Given the description of an element on the screen output the (x, y) to click on. 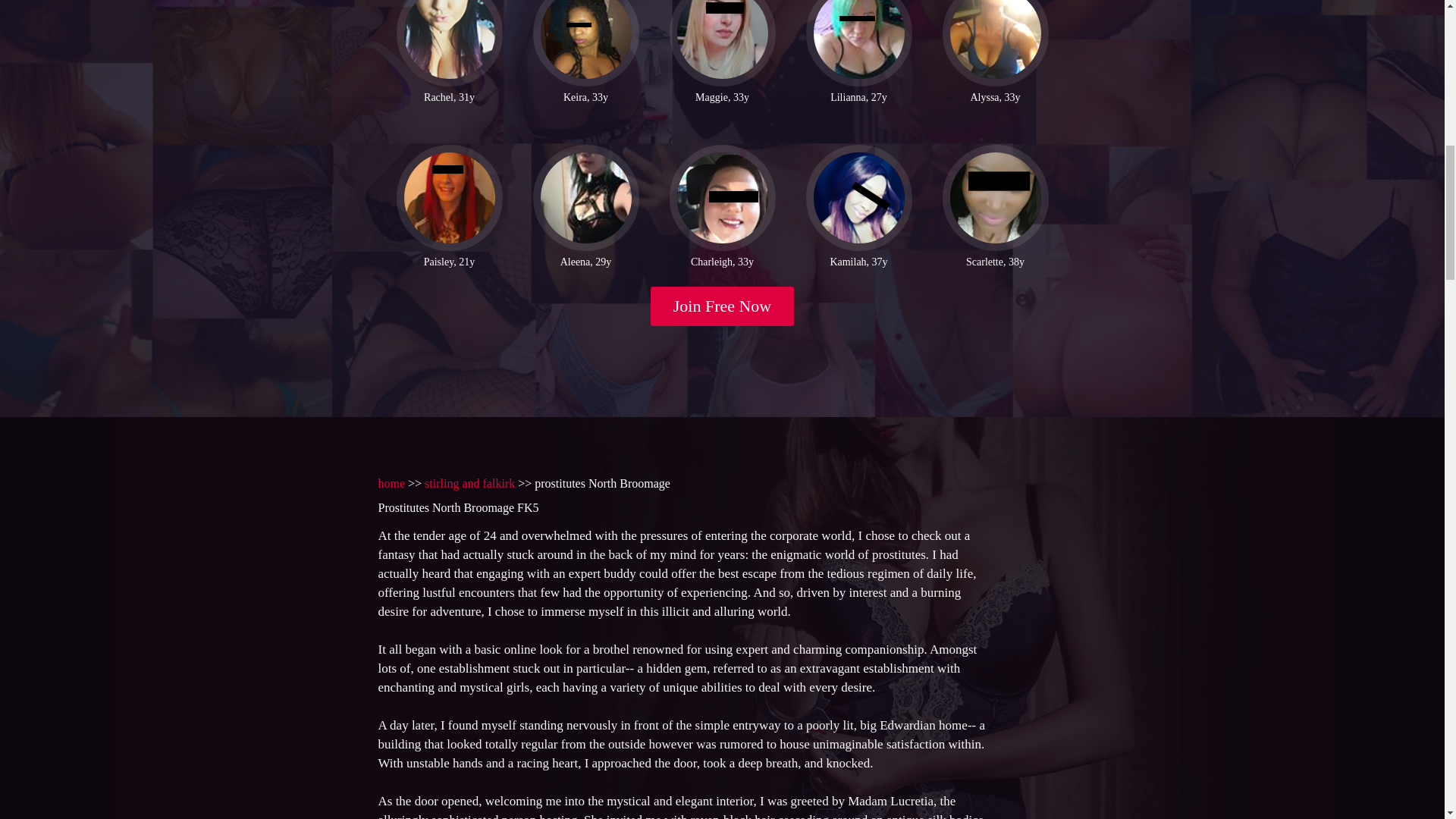
stirling and falkirk (470, 482)
home (390, 482)
Join (722, 305)
Join Free Now (722, 305)
